Given the description of an element on the screen output the (x, y) to click on. 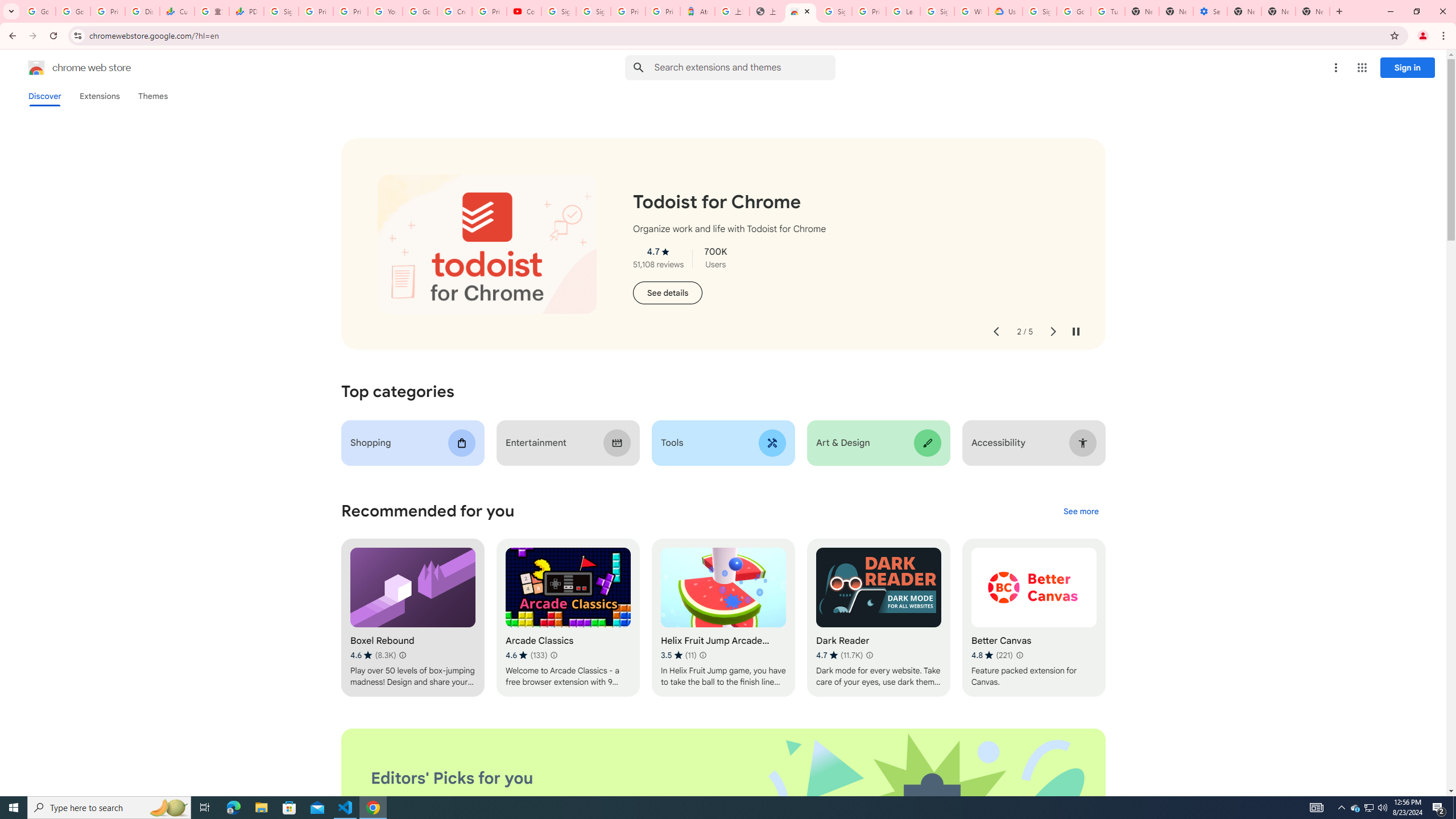
Learn more about results and reviews "Dark Reader" (869, 655)
Tools (722, 443)
Pause auto-play (1075, 331)
New Tab (1243, 11)
Google Workspace Admin Community (38, 11)
Turn cookies on or off - Computer - Google Account Help (1107, 11)
Dark Reader (878, 617)
Shopping (412, 443)
New Tab (1312, 11)
